Given the description of an element on the screen output the (x, y) to click on. 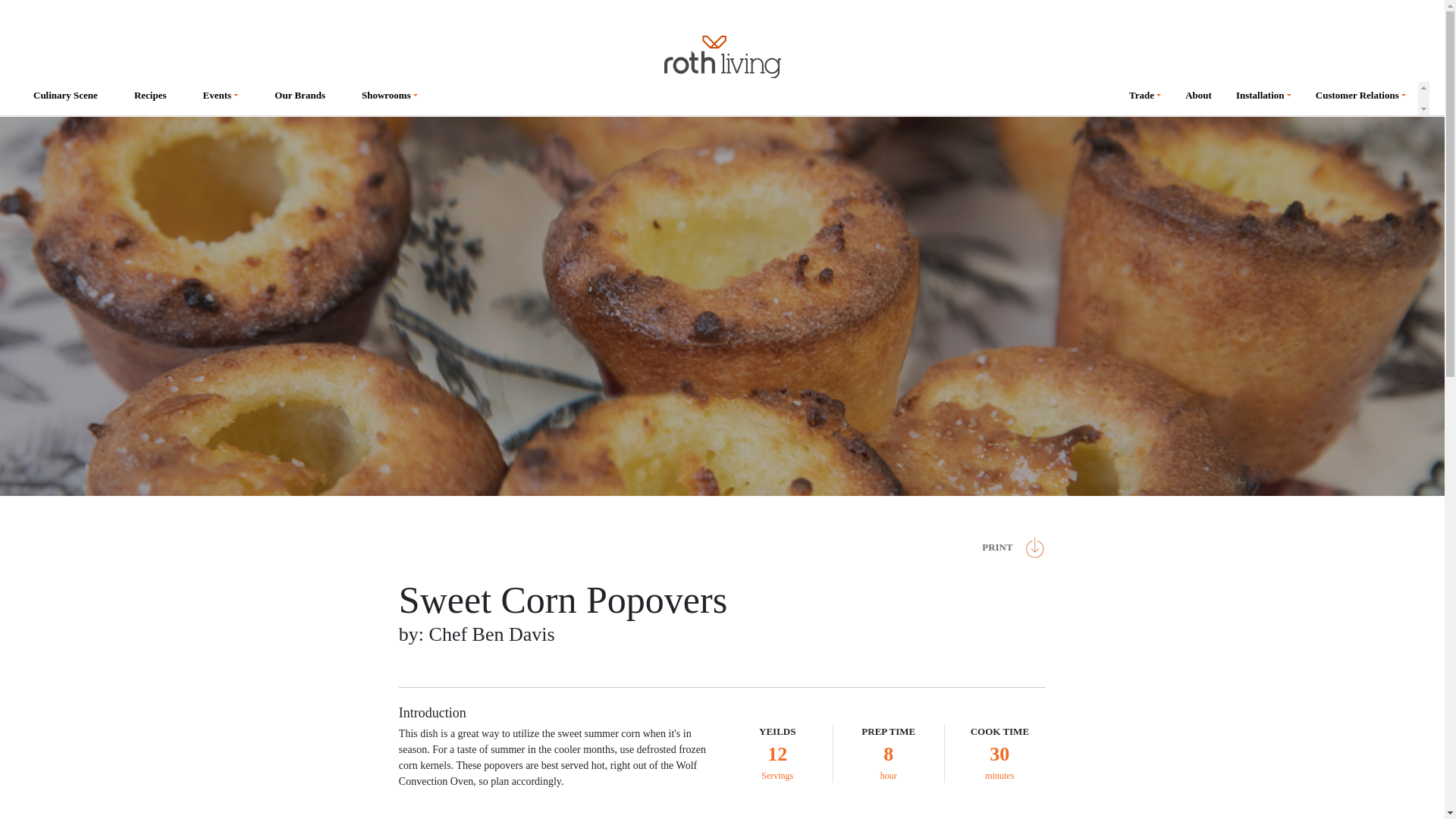
Customer Relations (1361, 98)
Installation (1263, 98)
Showrooms (389, 98)
Our Brands (299, 98)
Recipes (150, 98)
Trade (1144, 98)
Events (220, 98)
PRINT (1007, 547)
Culinary Scene (65, 98)
